Given the description of an element on the screen output the (x, y) to click on. 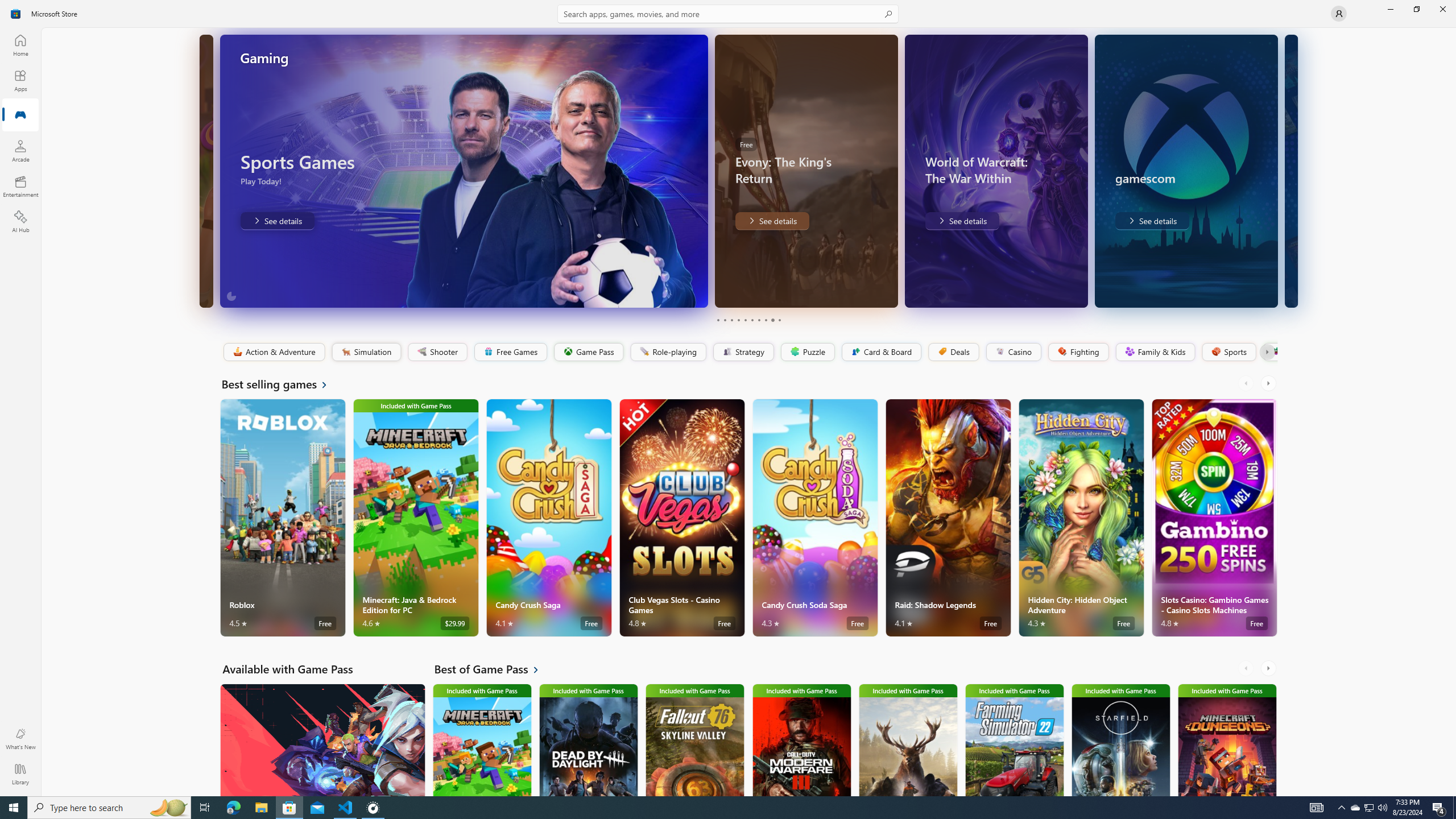
Page 7 (758, 319)
Platformer (1269, 352)
AI Hub (20, 221)
Page 4 (738, 319)
Page 6 (751, 319)
Deals (952, 352)
User profile (1338, 13)
Page 9 (772, 319)
Family & Kids (1154, 352)
Minimize Microsoft Store (1390, 9)
See all  Best of Game Pass (493, 668)
